Given the description of an element on the screen output the (x, y) to click on. 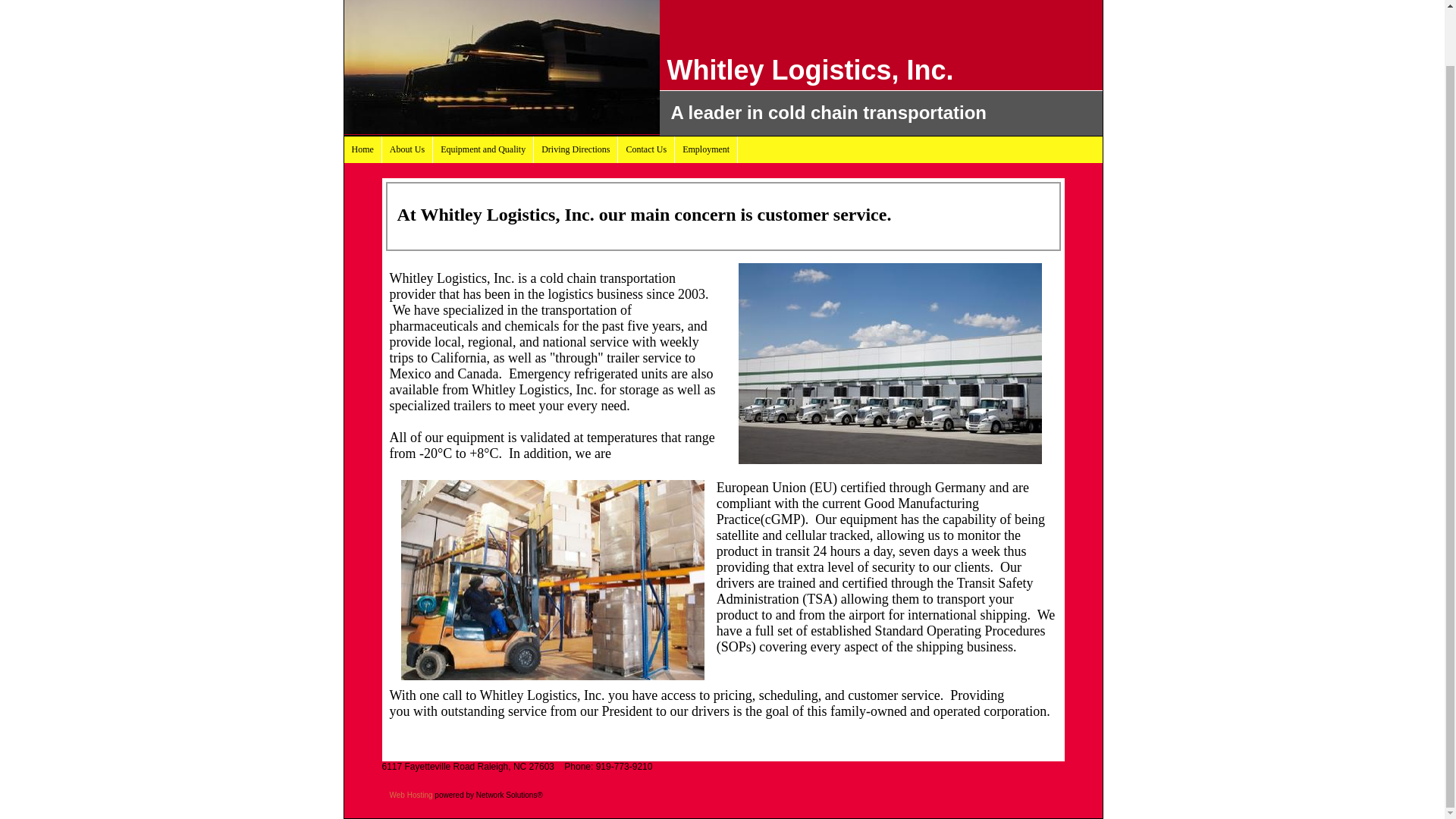
Web hosting (411, 795)
Home (362, 149)
About Us (406, 149)
Driving Directions (575, 149)
Employment (706, 149)
Contact Us (646, 149)
Web Hosting (411, 795)
Equipment and Quality (483, 149)
